Given the description of an element on the screen output the (x, y) to click on. 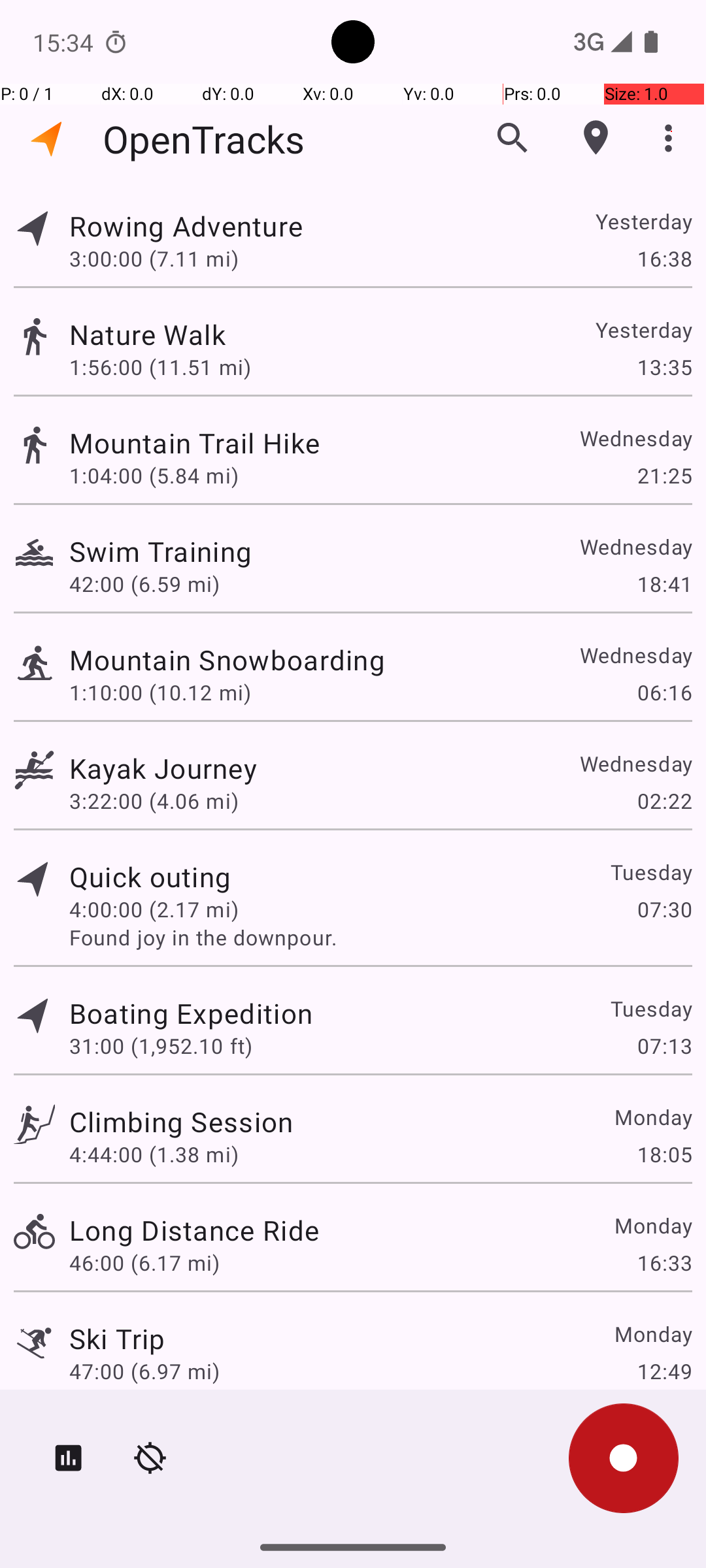
Rowing Adventure Element type: android.widget.TextView (185, 225)
3:00:00 (7.11 mi) Element type: android.widget.TextView (153, 258)
16:38 Element type: android.widget.TextView (664, 258)
Nature Walk Element type: android.widget.TextView (147, 333)
1:56:00 (11.51 mi) Element type: android.widget.TextView (159, 366)
13:35 Element type: android.widget.TextView (664, 366)
Mountain Trail Hike Element type: android.widget.TextView (194, 442)
1:04:00 (5.84 mi) Element type: android.widget.TextView (153, 475)
21:25 Element type: android.widget.TextView (664, 475)
Swim Training Element type: android.widget.TextView (160, 550)
42:00 (6.59 mi) Element type: android.widget.TextView (144, 583)
18:41 Element type: android.widget.TextView (664, 583)
Mountain Snowboarding Element type: android.widget.TextView (226, 659)
1:10:00 (10.12 mi) Element type: android.widget.TextView (159, 692)
06:16 Element type: android.widget.TextView (664, 692)
Kayak Journey Element type: android.widget.TextView (162, 767)
3:22:00 (4.06 mi) Element type: android.widget.TextView (153, 800)
02:22 Element type: android.widget.TextView (664, 800)
Quick outing Element type: android.widget.TextView (149, 876)
4:00:00 (2.17 mi) Element type: android.widget.TextView (153, 909)
07:30 Element type: android.widget.TextView (664, 909)
Found joy in the downpour. Element type: android.widget.TextView (380, 937)
Boating Expedition Element type: android.widget.TextView (190, 1012)
31:00 (1,952.10 ft) Element type: android.widget.TextView (160, 1045)
07:13 Element type: android.widget.TextView (664, 1045)
Climbing Session Element type: android.widget.TextView (180, 1121)
4:44:00 (1.38 mi) Element type: android.widget.TextView (153, 1154)
18:05 Element type: android.widget.TextView (664, 1154)
Long Distance Ride Element type: android.widget.TextView (193, 1229)
46:00 (6.17 mi) Element type: android.widget.TextView (144, 1262)
16:33 Element type: android.widget.TextView (664, 1262)
Ski Trip Element type: android.widget.TextView (116, 1337)
47:00 (6.97 mi) Element type: android.widget.TextView (144, 1370)
12:49 Element type: android.widget.TextView (664, 1370)
